Given the description of an element on the screen output the (x, y) to click on. 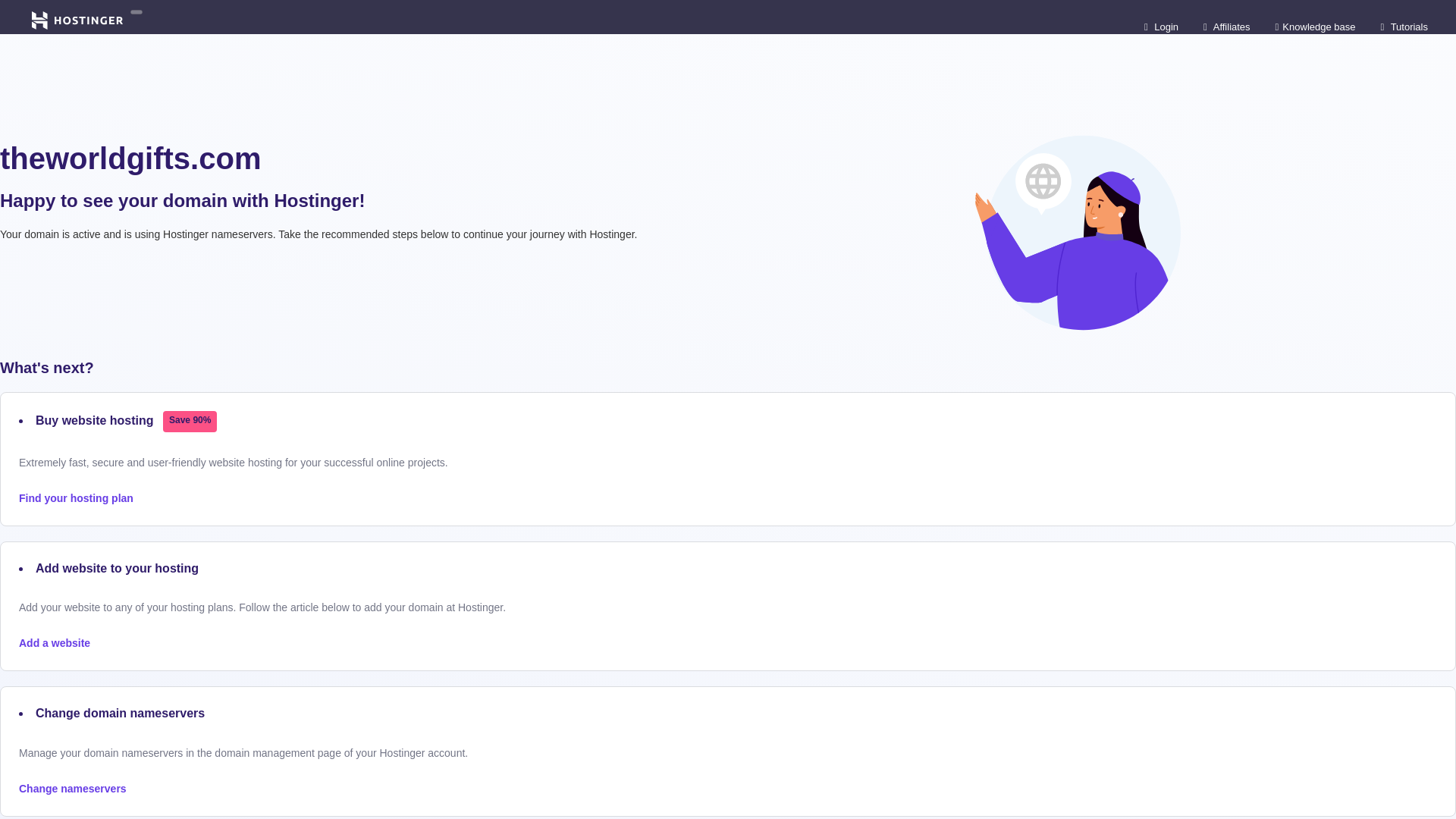
Affiliates (1226, 26)
Change nameservers (72, 788)
Add a website (54, 643)
Tutorials (1404, 26)
Login (1161, 26)
Find your hosting plan (75, 498)
Knowledge base (1315, 26)
